Given the description of an element on the screen output the (x, y) to click on. 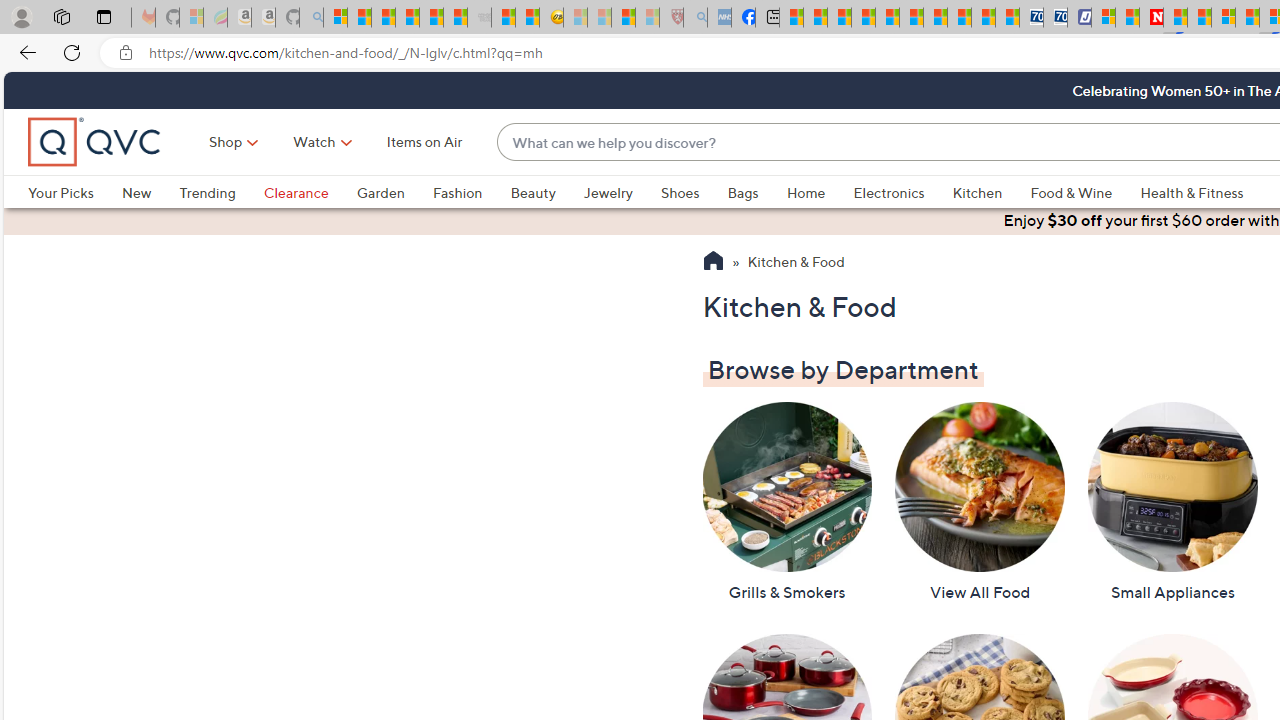
Grills & Smokers (786, 502)
Beauty (532, 192)
Jewelry (607, 192)
12 Popular Science Lies that Must be Corrected - Sleeping (647, 17)
Return to QVC Homepage (712, 263)
Shoes (694, 192)
Kitchen (977, 192)
